Given the description of an element on the screen output the (x, y) to click on. 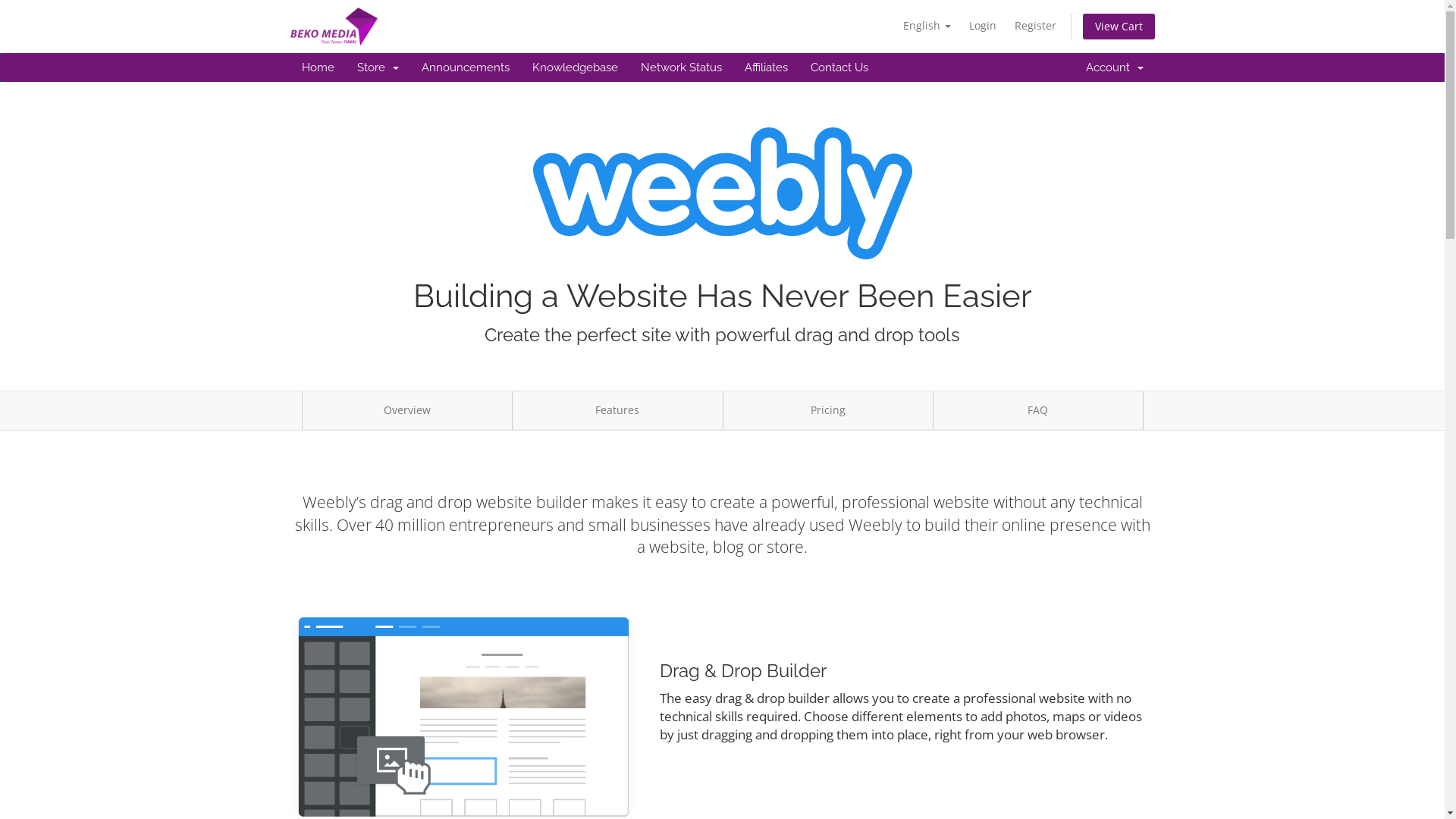
English Element type: text (925, 25)
Features Element type: text (616, 410)
FAQ Element type: text (1037, 410)
Contact Us Element type: text (839, 67)
Home Element type: text (317, 67)
Affiliates Element type: text (765, 67)
Store   Element type: text (377, 67)
View Cart Element type: text (1118, 26)
Knowledgebase Element type: text (574, 67)
Overview Element type: text (406, 410)
Pricing Element type: text (826, 410)
Announcements Element type: text (464, 67)
Network Status Element type: text (681, 67)
Account   Element type: text (1113, 67)
Register Element type: text (1035, 25)
Login Element type: text (982, 25)
